Given the description of an element on the screen output the (x, y) to click on. 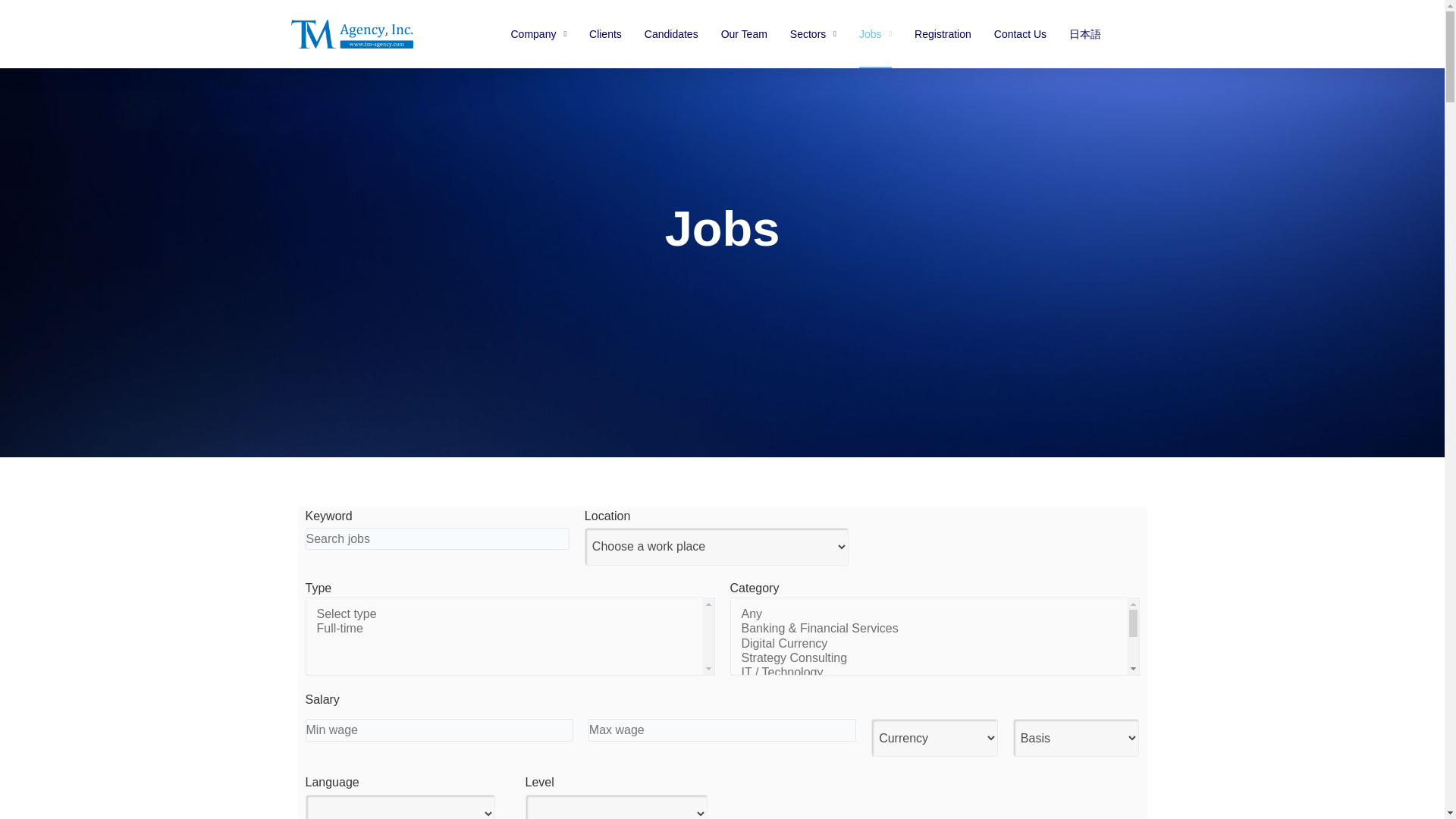
Sectors (812, 33)
Candidates (671, 33)
Jobs (875, 33)
Contact Us (1020, 33)
Registration (942, 33)
Company (539, 33)
Clients (605, 33)
Our Team (743, 33)
